Given the description of an element on the screen output the (x, y) to click on. 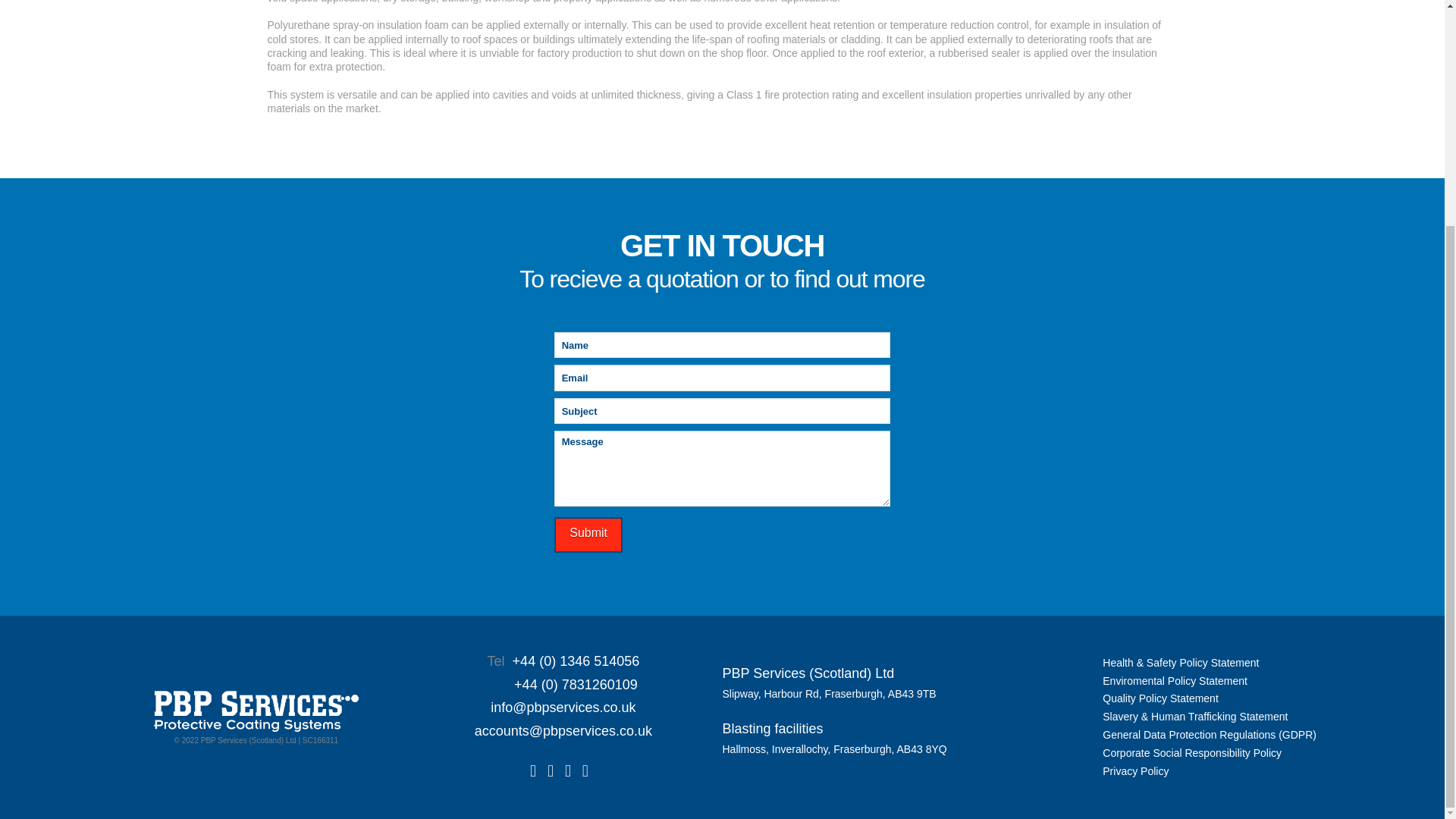
Enviromental Policy Statement (1174, 680)
Submit (588, 534)
Quality Policy Statement (1160, 698)
Submit (588, 534)
